Given the description of an element on the screen output the (x, y) to click on. 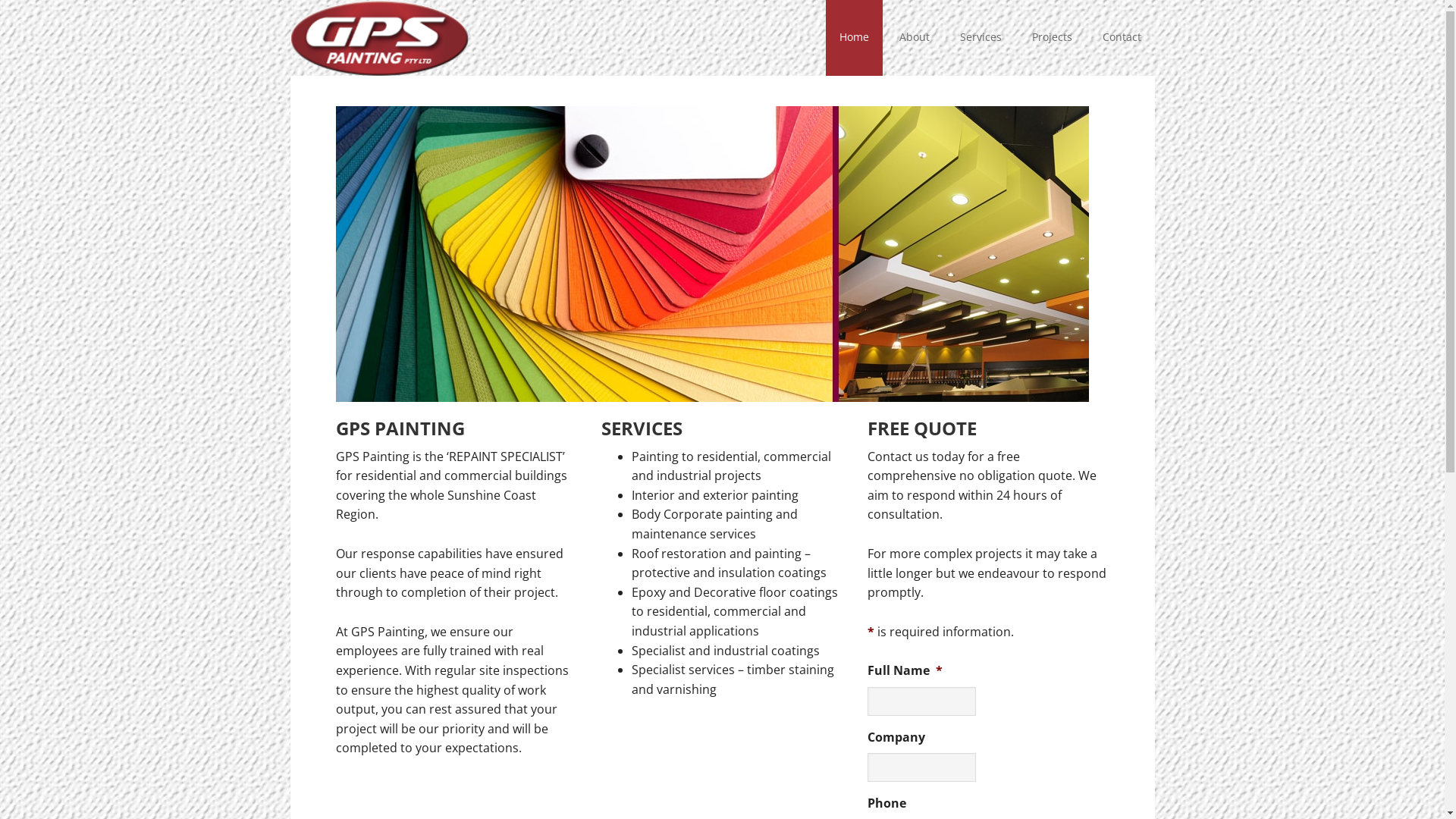
Projects Element type: text (1051, 37)
About Element type: text (914, 37)
Contact Element type: text (1121, 37)
Home Element type: text (853, 37)
Skip to main content Element type: text (289, 0)
Services Element type: text (980, 37)
GPS Painting Element type: text (387, 37)
